Given the description of an element on the screen output the (x, y) to click on. 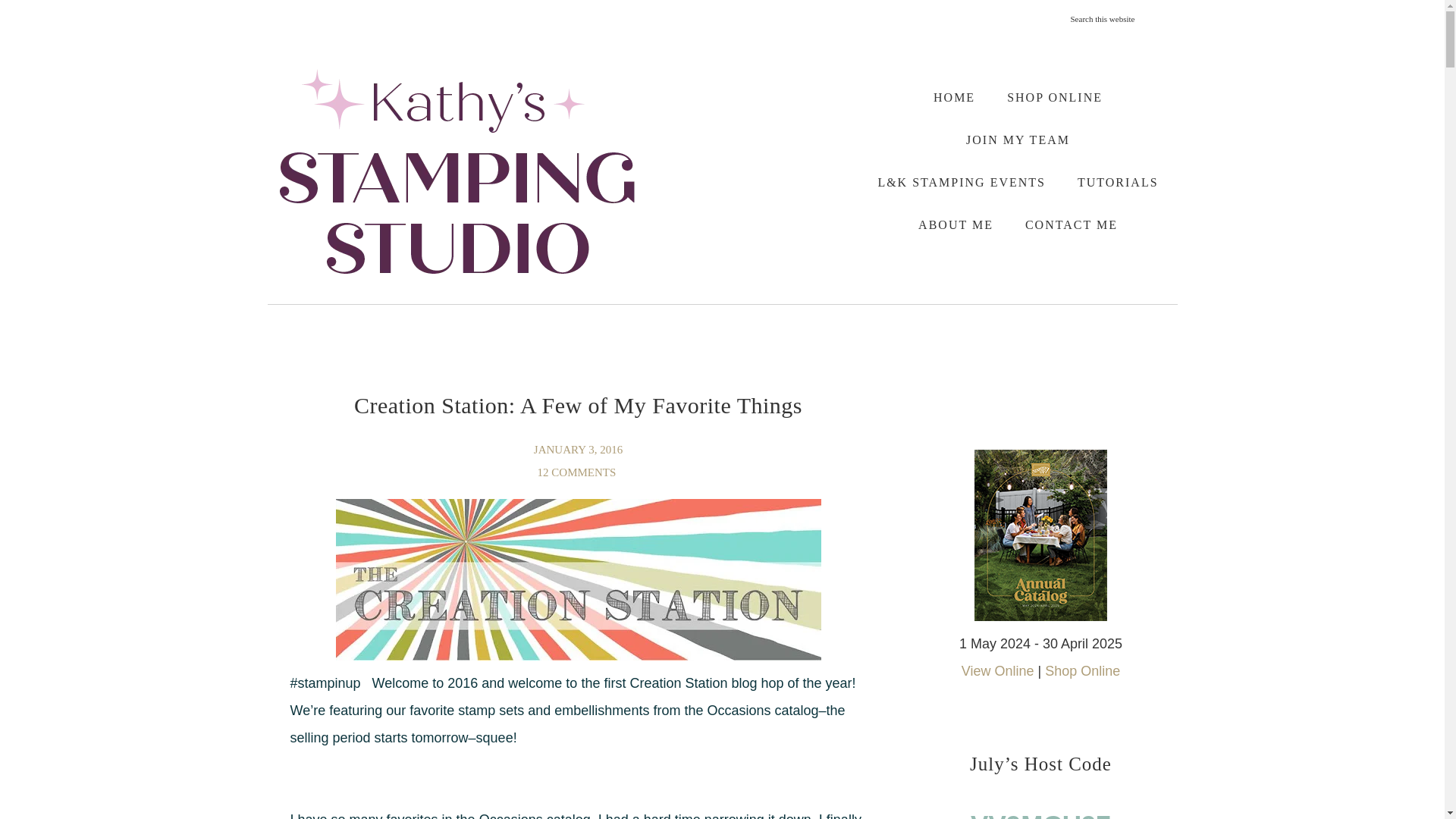
12 COMMENTS (578, 472)
ABOUT ME (955, 224)
HOME (954, 97)
SHOP ONLINE (1054, 97)
KATHYS STAMPING STUDIO (456, 171)
CONTACT ME (1071, 224)
TUTORIALS (1118, 182)
JOIN MY TEAM (1017, 139)
